Given the description of an element on the screen output the (x, y) to click on. 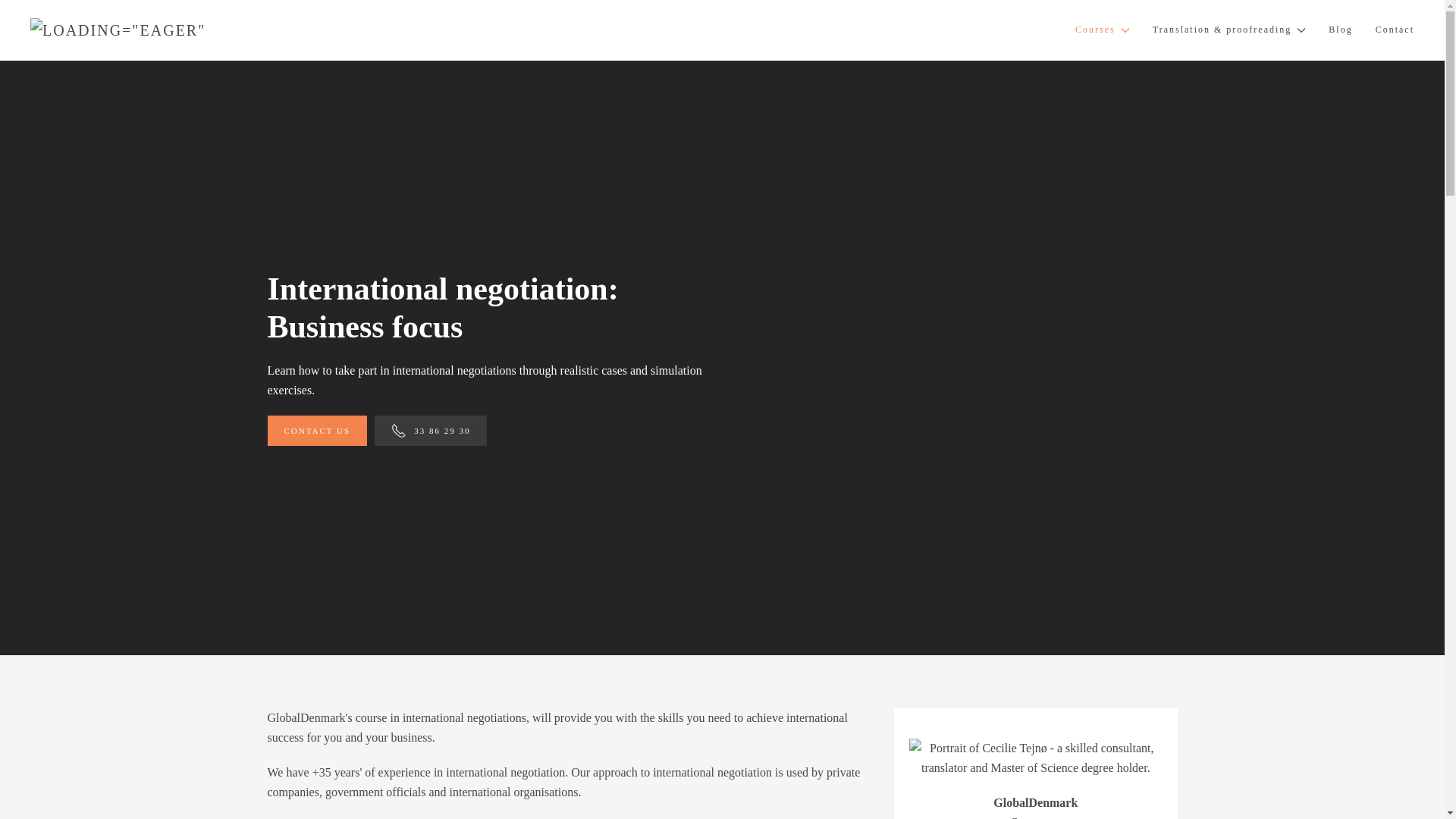
Courses (1102, 30)
